Given the description of an element on the screen output the (x, y) to click on. 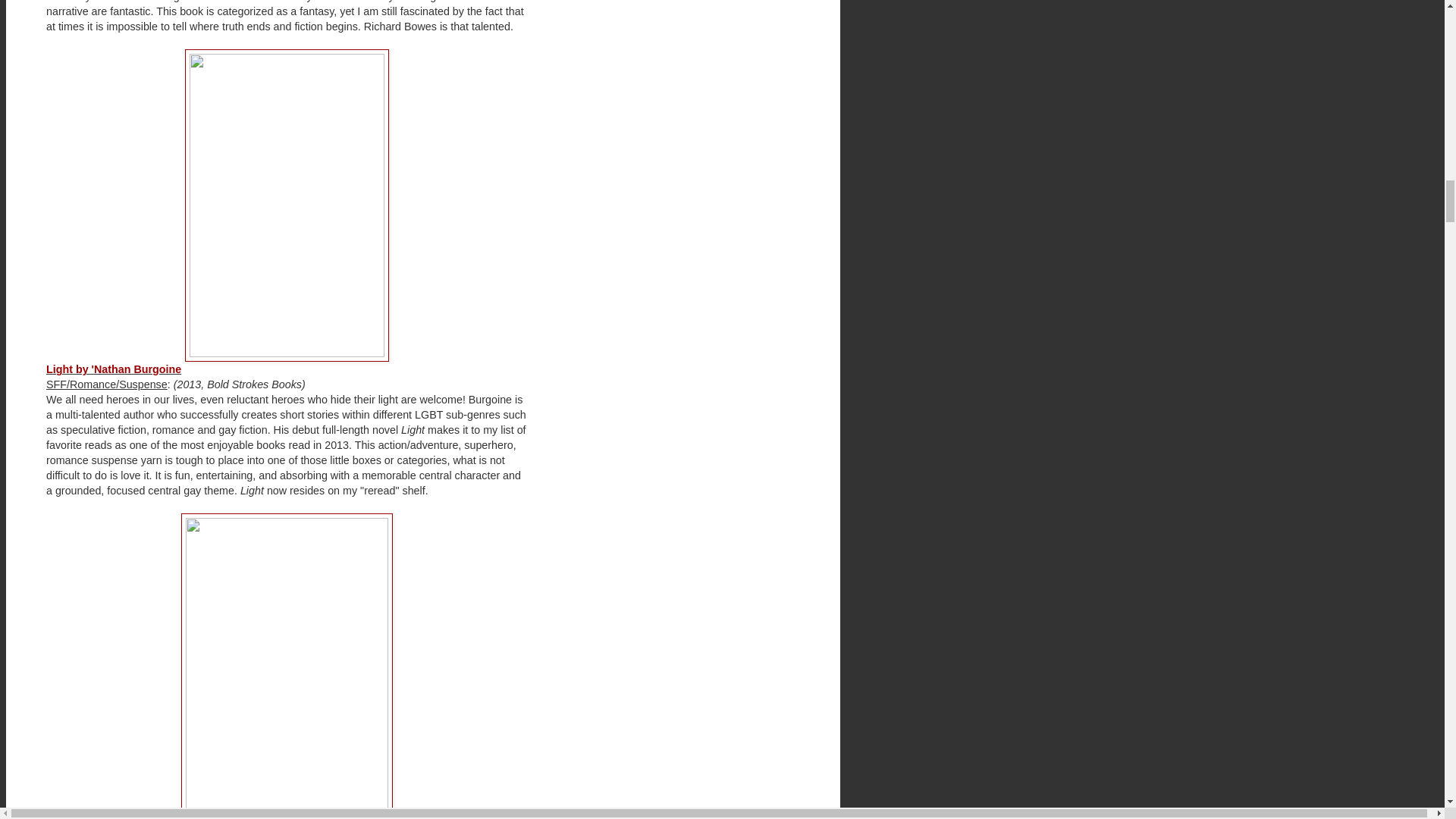
Light by 'Nathan Burgoine (113, 369)
